Given the description of an element on the screen output the (x, y) to click on. 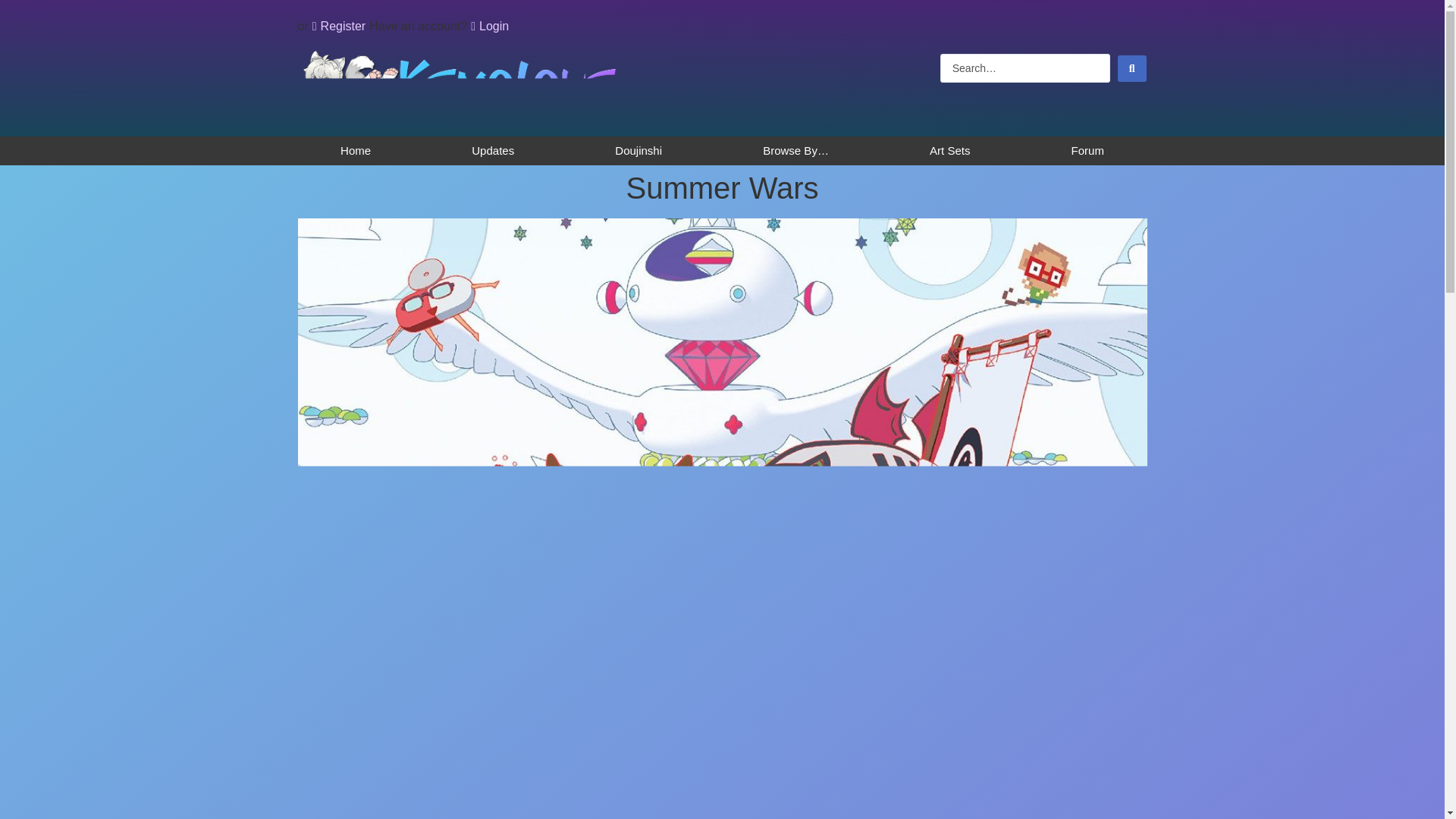
Art Sets (949, 150)
Forum (1087, 150)
Updates (493, 150)
Login (489, 26)
Doujinshi (638, 150)
Register (339, 26)
Home (354, 150)
